Given the description of an element on the screen output the (x, y) to click on. 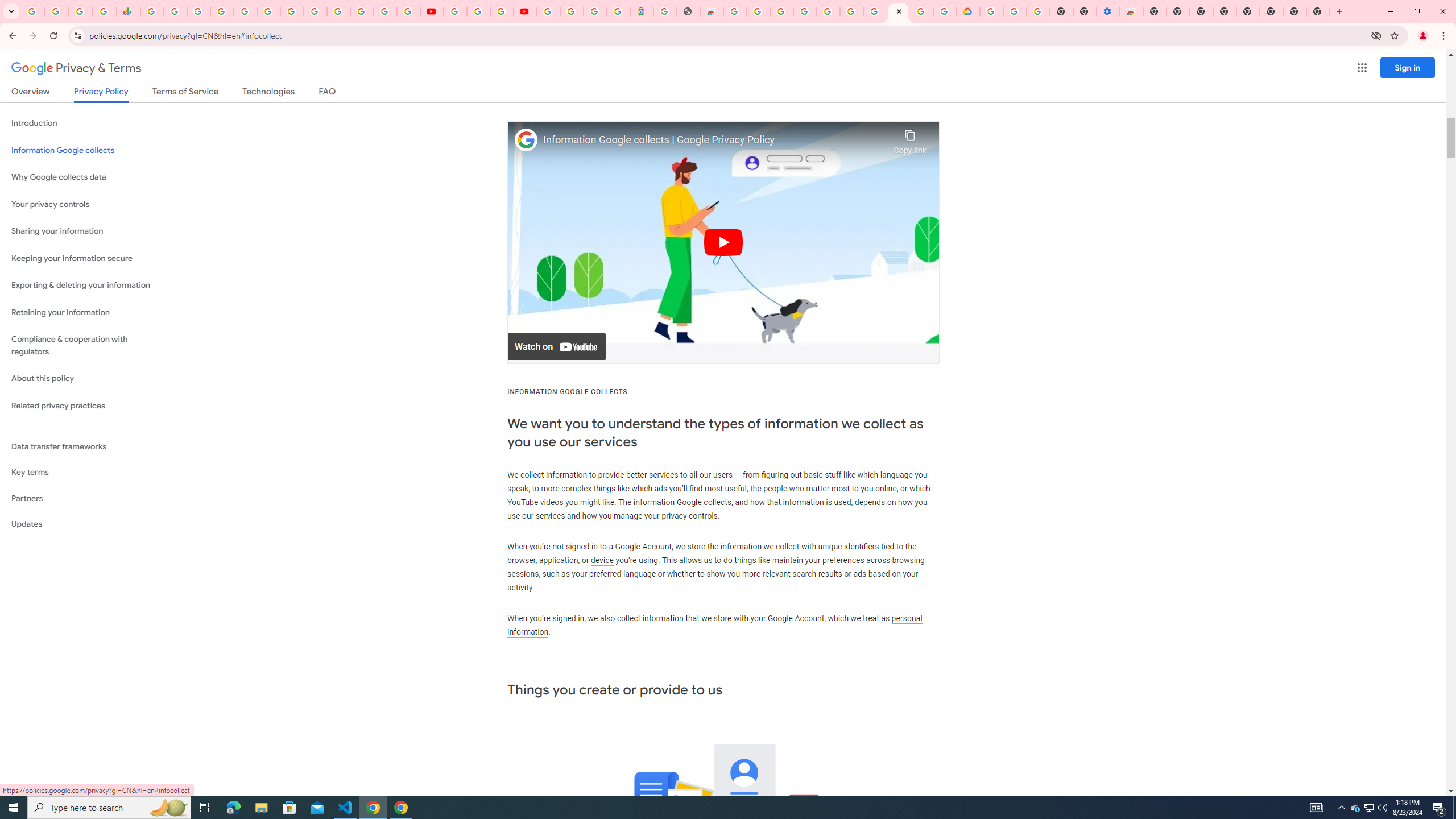
Information Google collects (86, 150)
About this policy (86, 379)
New Tab (1318, 11)
Settings - Accessibility (1108, 11)
unique identifiers (848, 546)
Photo image of Google (526, 139)
Retaining your information (86, 312)
Ad Settings (804, 11)
Sign in - Google Accounts (827, 11)
the people who matter most to you online (822, 488)
Create your Google Account (921, 11)
